Given the description of an element on the screen output the (x, y) to click on. 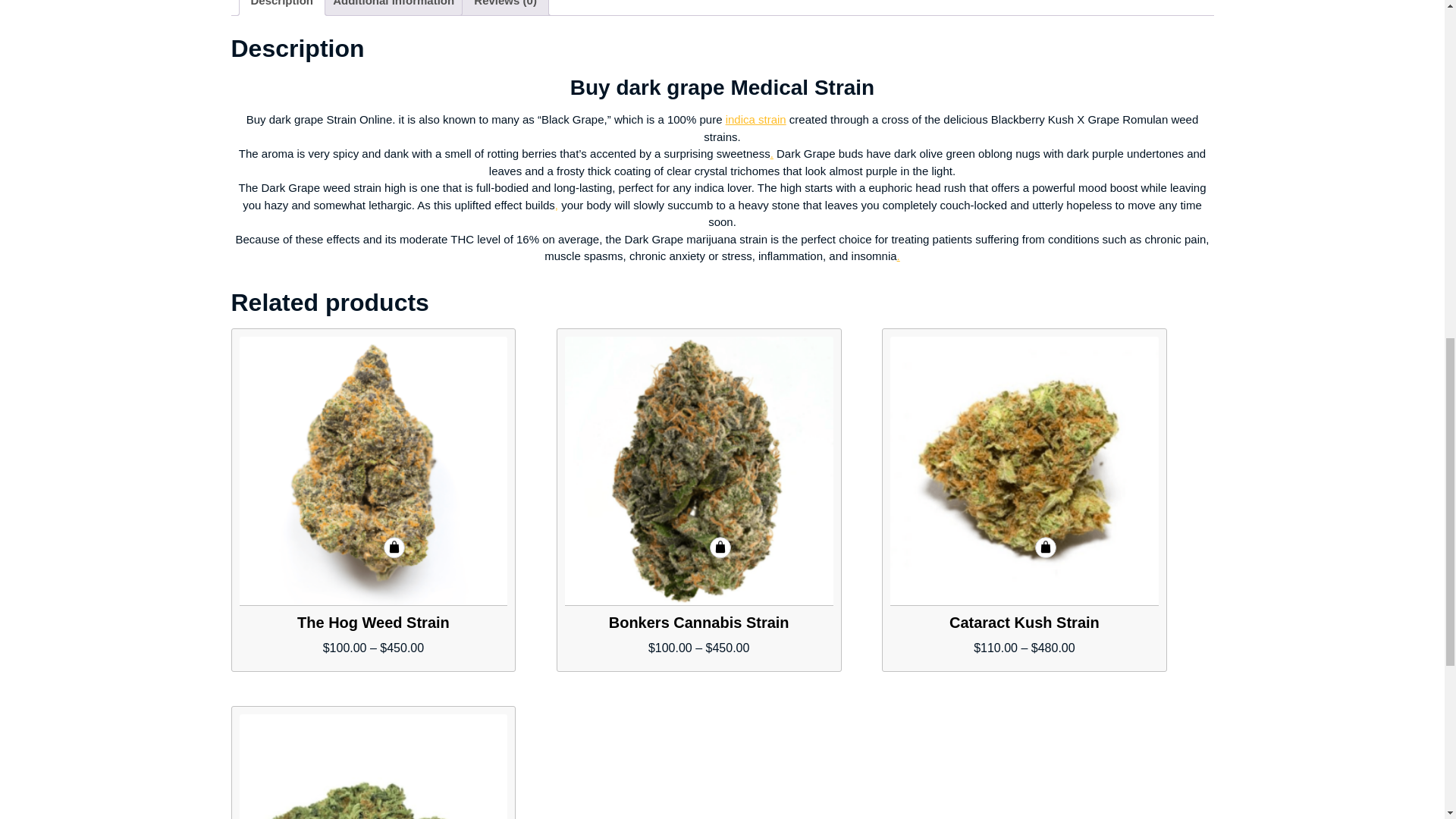
Bonkers Cannabis Strain (698, 471)
The Hog Weed Strain (374, 471)
Additional information (393, 7)
Cataract Kush Strain (1023, 471)
Description (281, 7)
Afghani Bullrider Cannabis Strain (374, 766)
